Given the description of an element on the screen output the (x, y) to click on. 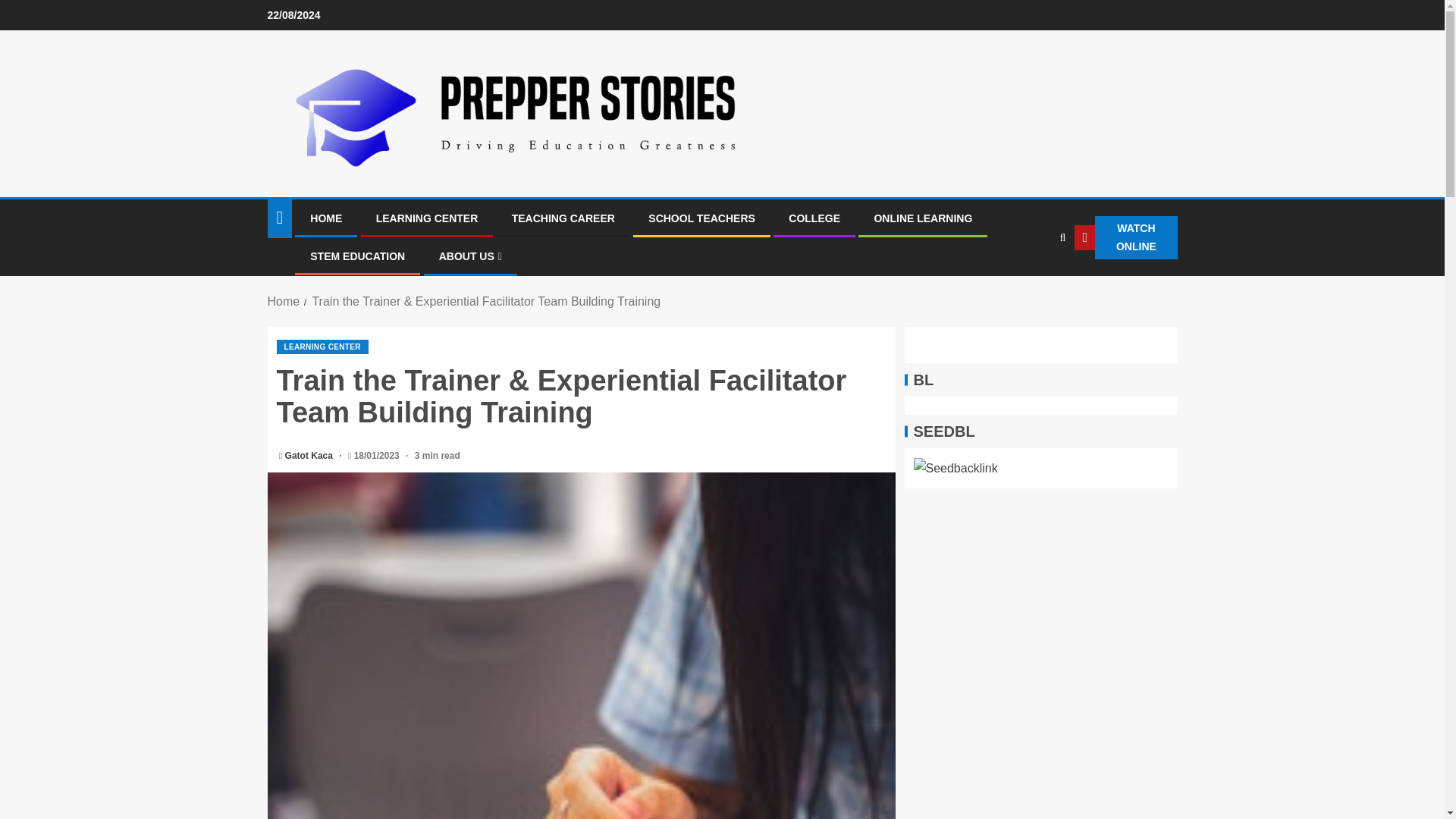
SCHOOL TEACHERS (701, 218)
Home (282, 300)
Search (1031, 284)
ABOUT US (470, 256)
Seedbacklink (954, 467)
STEM EDUCATION (357, 256)
HOME (326, 218)
WATCH ONLINE (1125, 238)
Gatot Kaca (310, 455)
COLLEGE (814, 218)
